Given the description of an element on the screen output the (x, y) to click on. 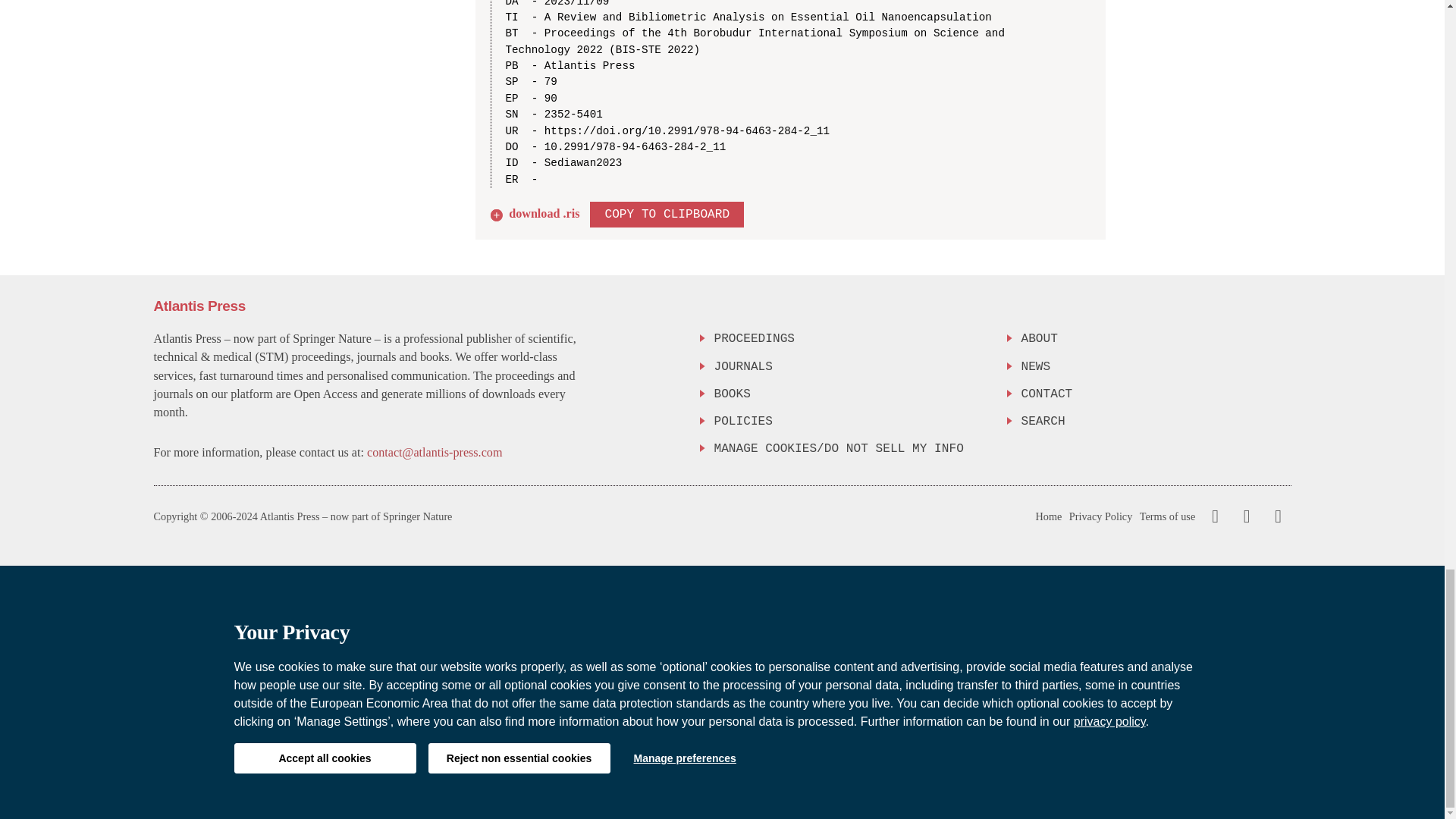
Facebook (1215, 516)
LinkedIn (1275, 516)
Twitter (1243, 516)
